Given the description of an element on the screen output the (x, y) to click on. 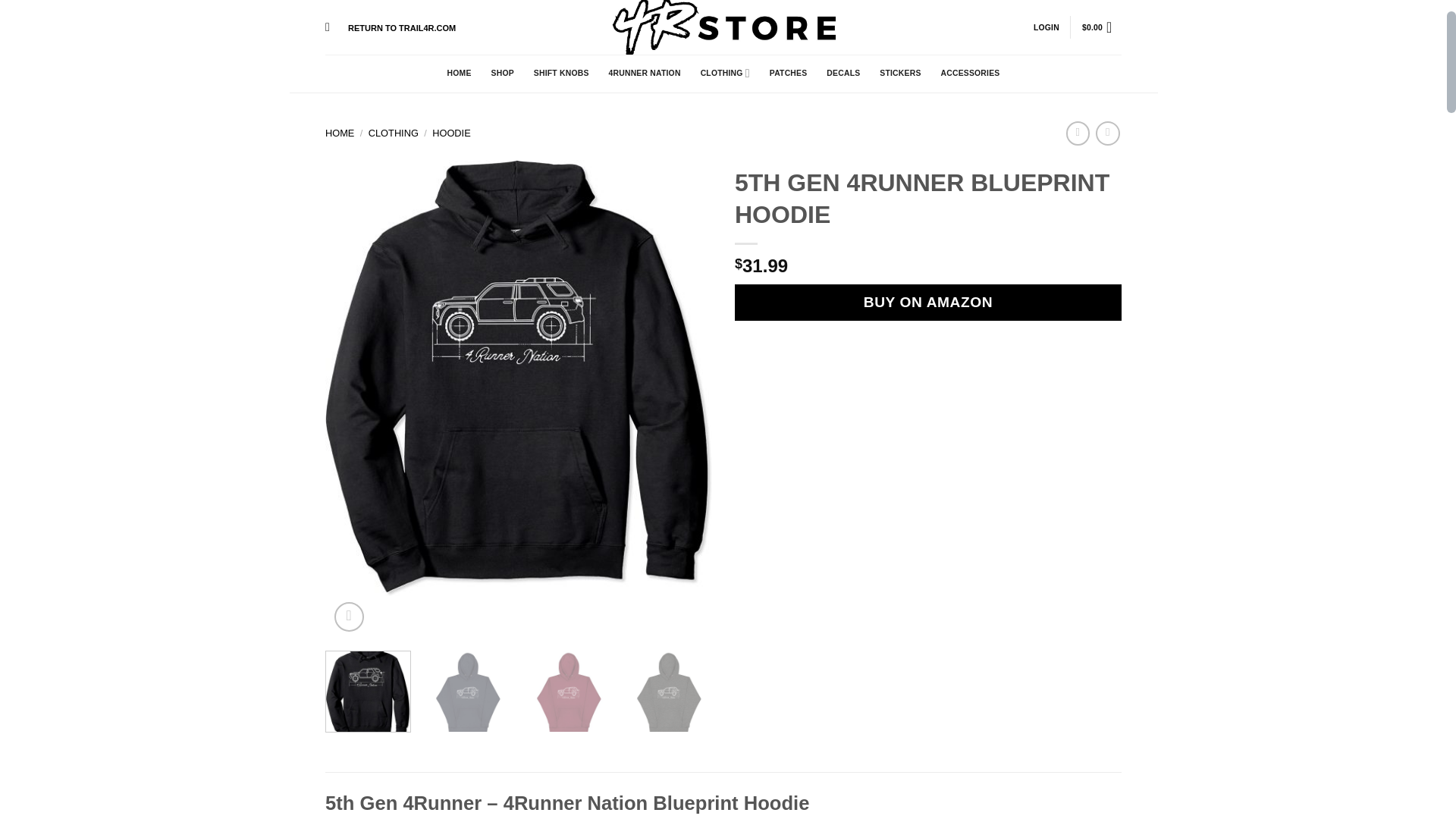
CLOTHING (393, 132)
STICKERS (899, 72)
HOODIE (451, 132)
DECALS (843, 72)
SHIFT KNOBS (561, 72)
Cart (1101, 27)
PATCHES (789, 72)
Zoom (349, 616)
CLOTHING (724, 72)
ACCESSORIES (970, 72)
HOME (338, 132)
4RUNNER NATION (644, 72)
RETURN TO TRAIL4R.COM (401, 23)
